Given the description of an element on the screen output the (x, y) to click on. 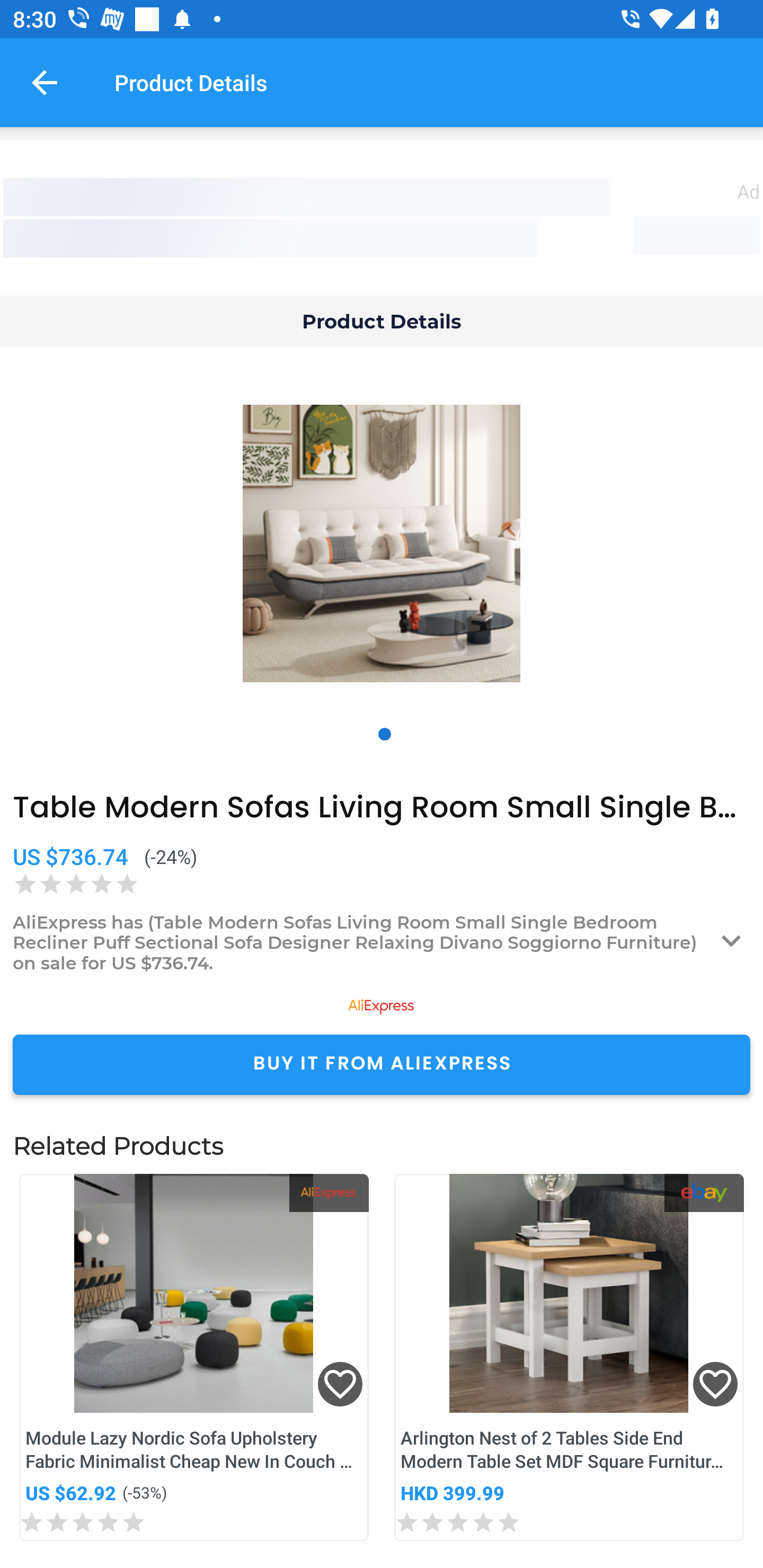
Navigate up (44, 82)
BUY IT FROM ALIEXPRESS (381, 1064)
